Given the description of an element on the screen output the (x, y) to click on. 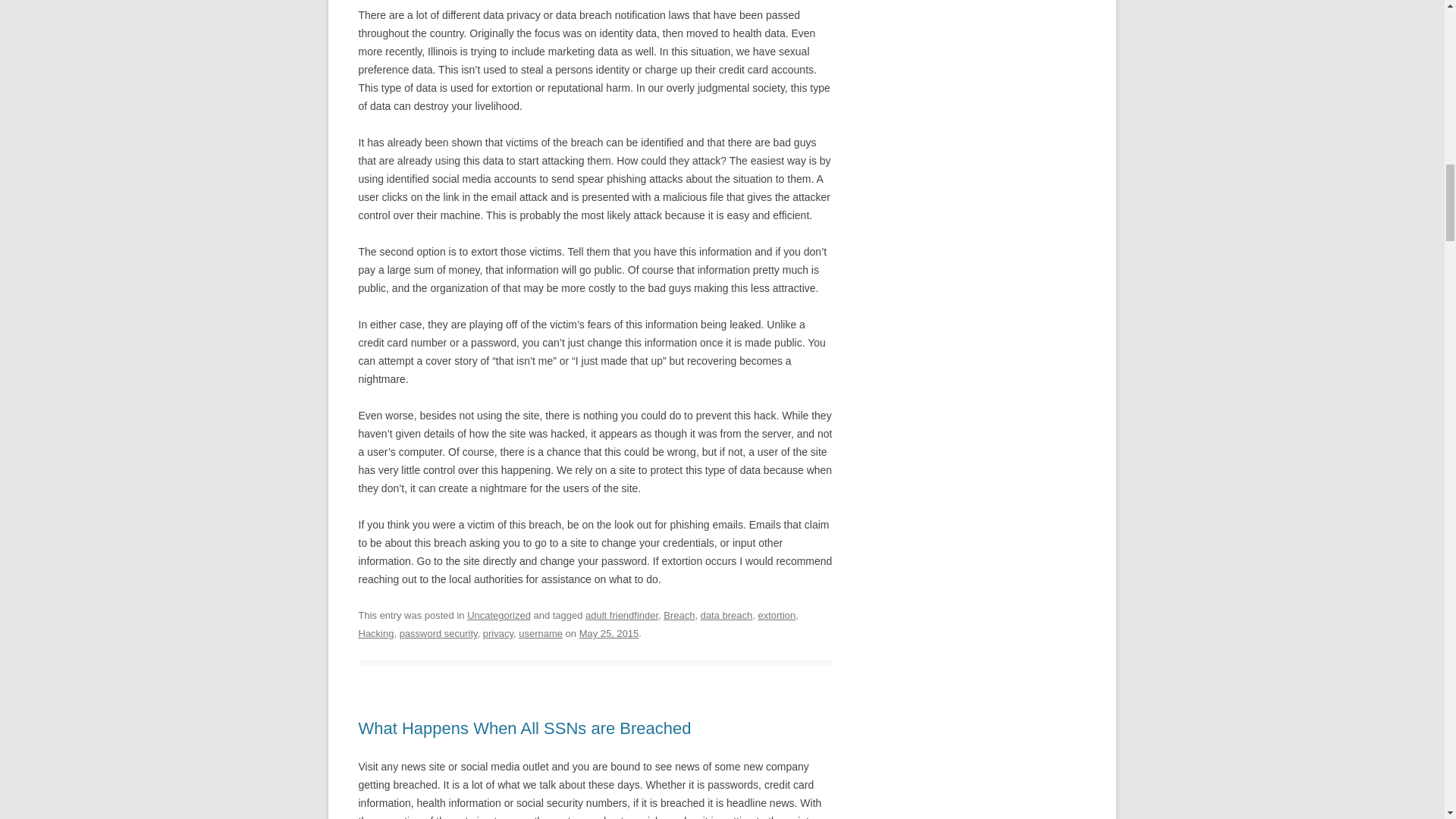
extortion (775, 614)
Uncategorized (499, 614)
username (540, 633)
Breach (678, 614)
adult friendfinder (621, 614)
Hacking (375, 633)
6:45 pm (609, 633)
privacy (498, 633)
May 25, 2015 (609, 633)
data breach (726, 614)
password security (437, 633)
